Given the description of an element on the screen output the (x, y) to click on. 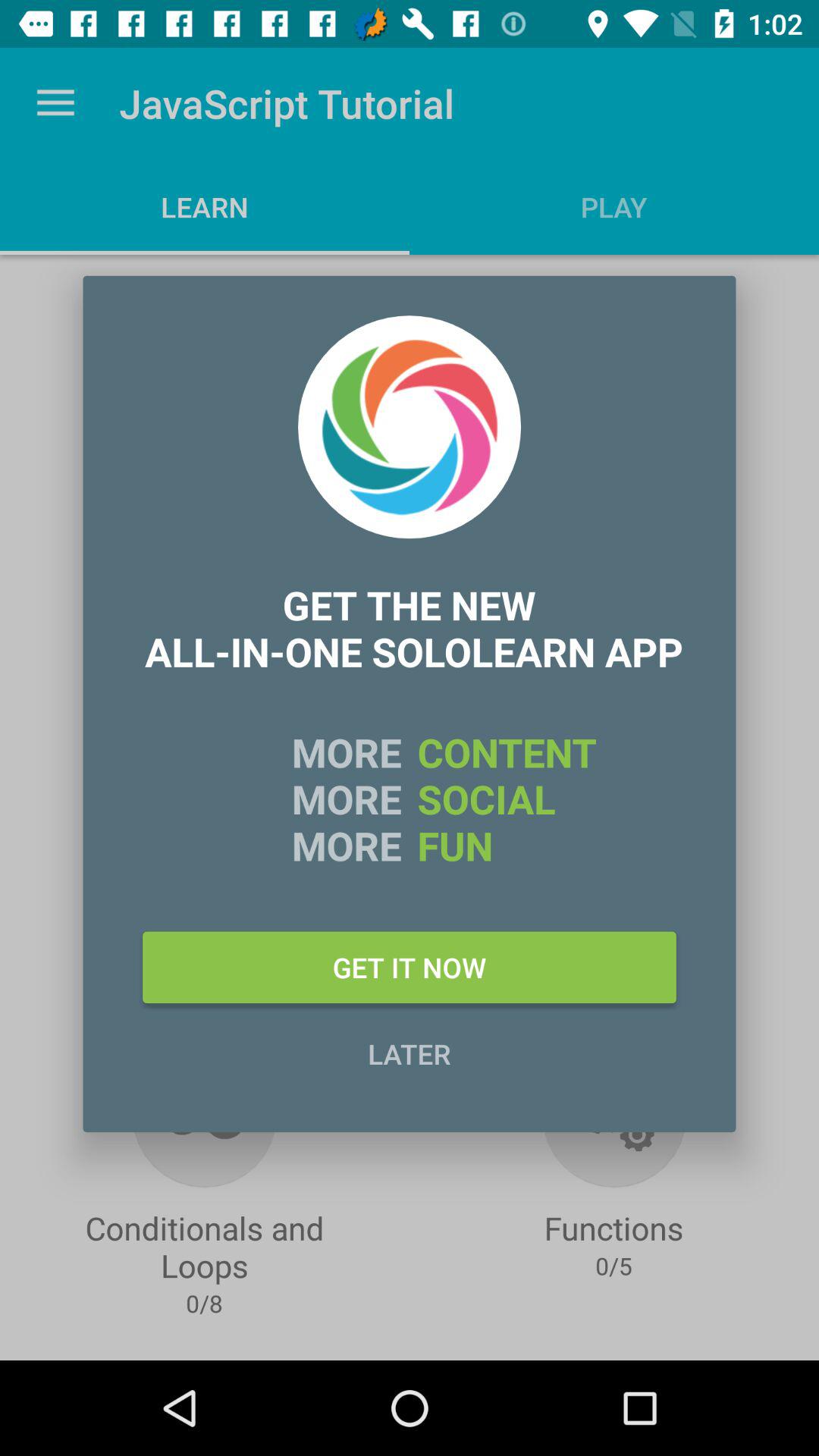
turn off get it now (409, 967)
